Given the description of an element on the screen output the (x, y) to click on. 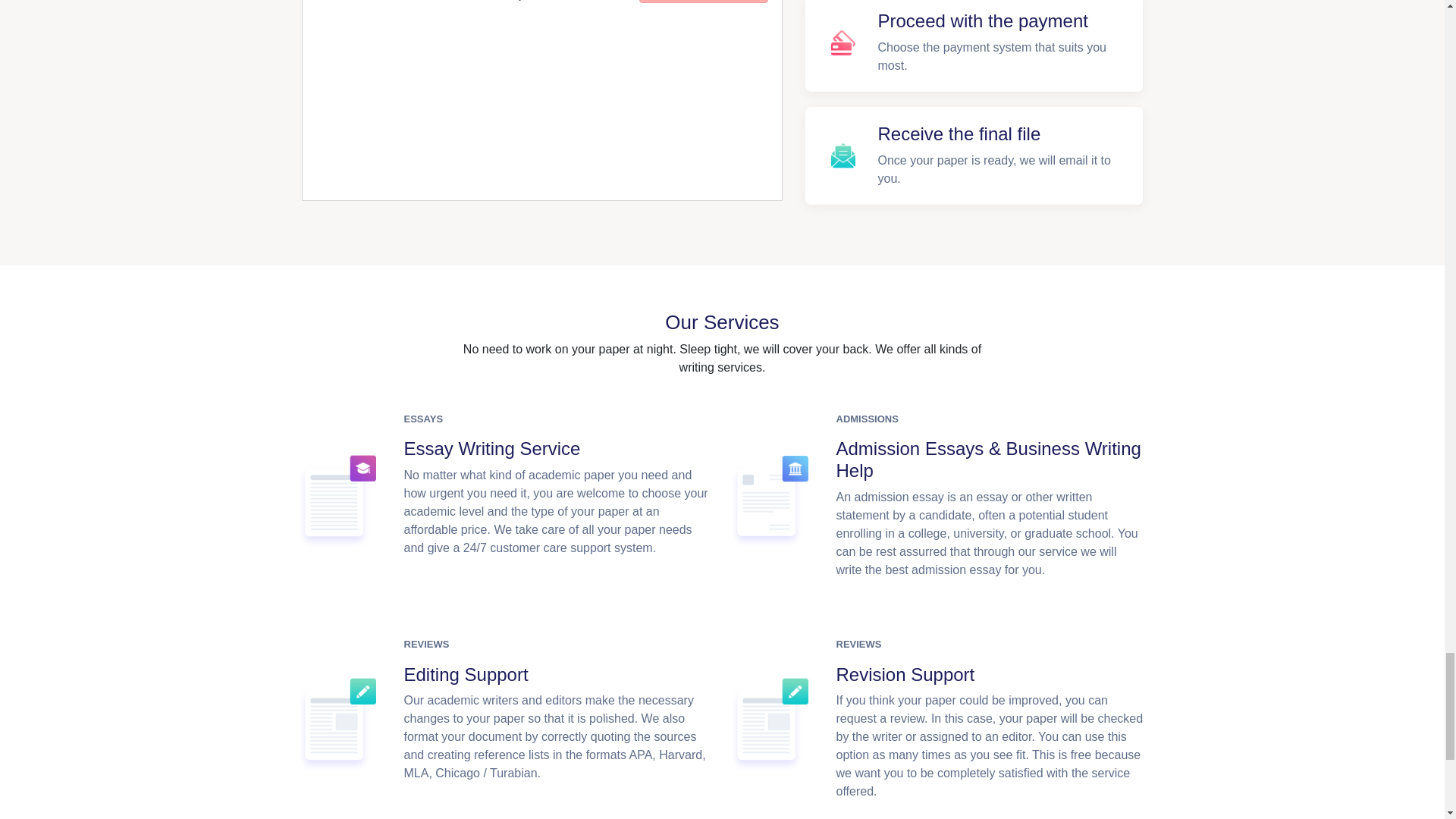
Continue to order (703, 1)
Continue to order (703, 1)
Continue to Order (703, 1)
